Given the description of an element on the screen output the (x, y) to click on. 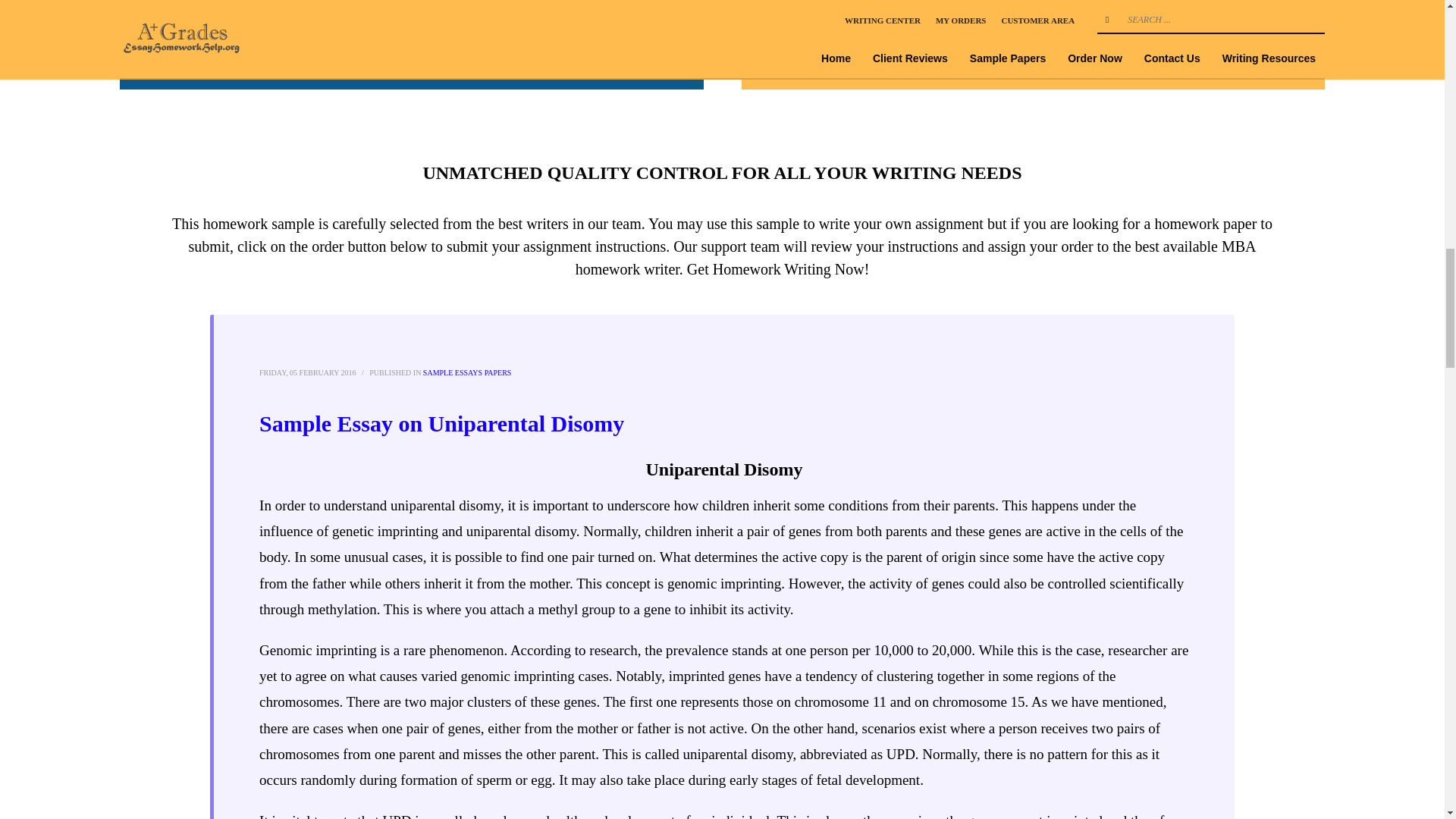
SAMPLE ESSAYS PAPERS (467, 372)
